Given the description of an element on the screen output the (x, y) to click on. 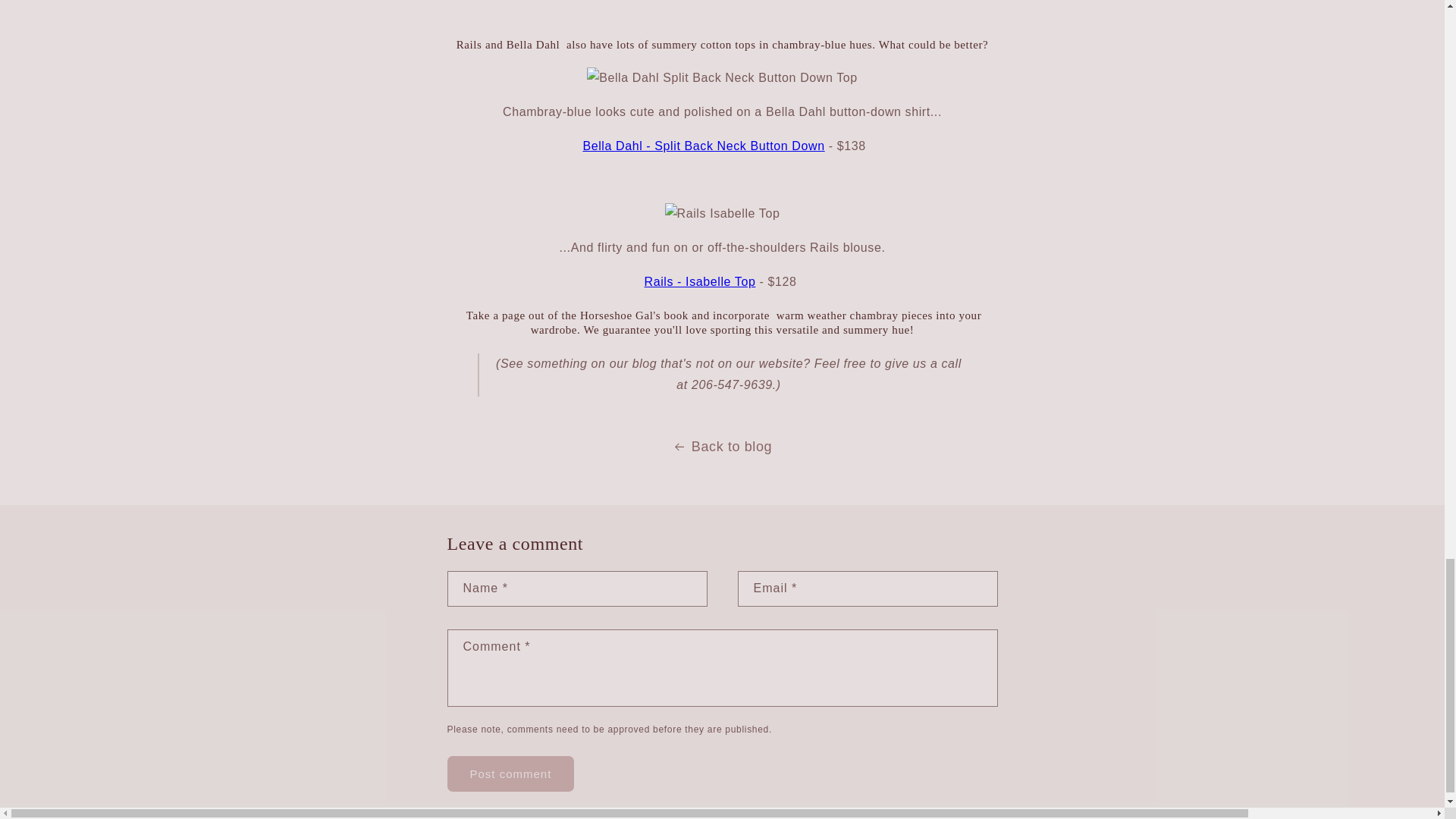
Bella Dahl - Split Back Neck Button Down (703, 145)
Post comment (510, 773)
Rails - Isabelle Top (700, 281)
